Given the description of an element on the screen output the (x, y) to click on. 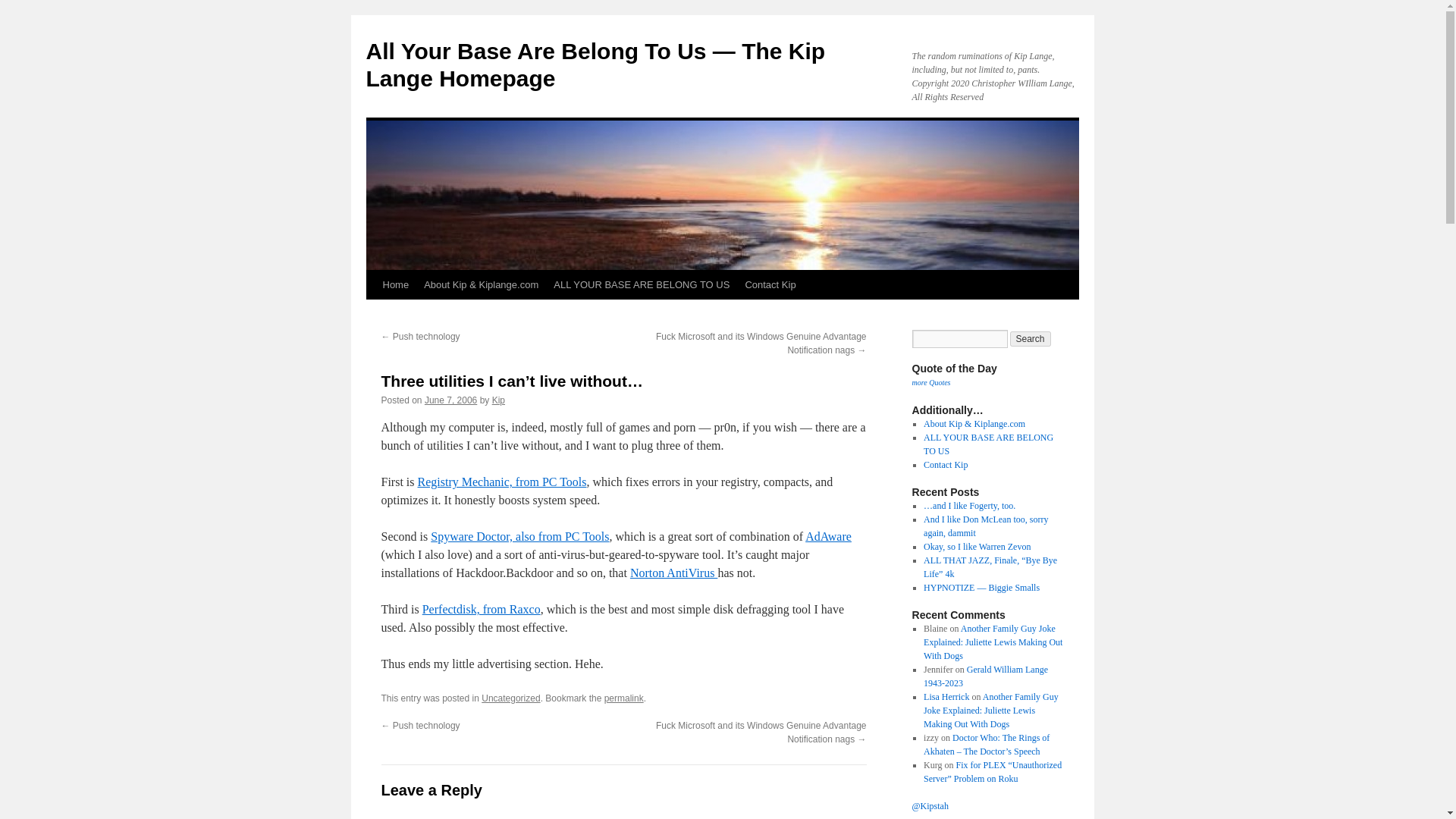
View all posts by Kip (498, 399)
Contact Kip (945, 464)
Spyware Doctor, also from PC Tools (519, 535)
Registry Mechanic, from PC Tools (501, 481)
Kip (498, 399)
Lisa Herrick (946, 696)
5:37 am (451, 399)
Search (1030, 338)
